Given the description of an element on the screen output the (x, y) to click on. 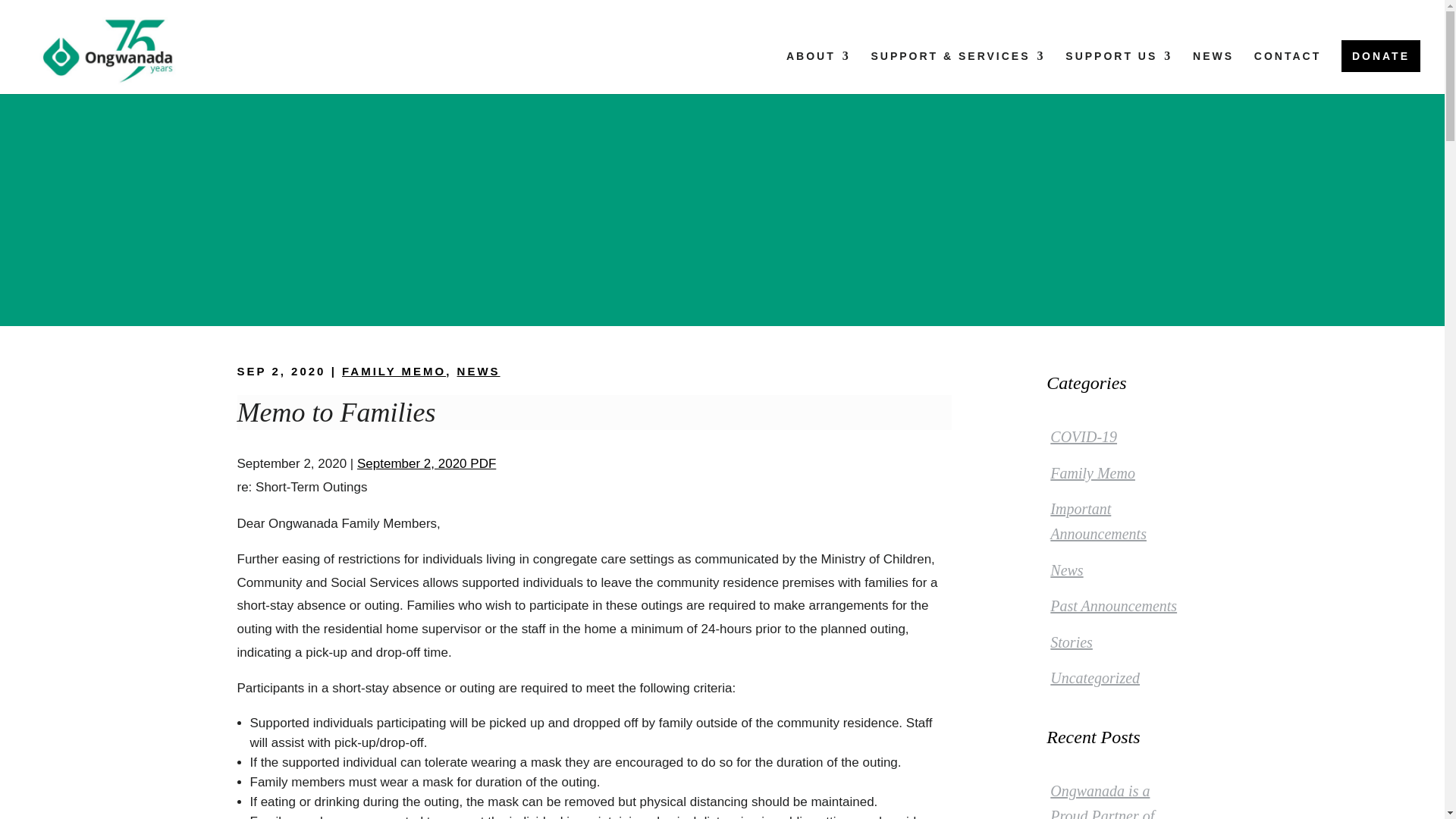
News (1066, 569)
Past Announcements (1112, 605)
Stories (1071, 641)
Uncategorized (1094, 677)
NEWS (478, 370)
FAMILY MEMO (393, 370)
ABOUT (818, 72)
SUPPORT US (1118, 72)
September 2, 2020 PDF (426, 463)
CONTACT (1286, 72)
